Given the description of an element on the screen output the (x, y) to click on. 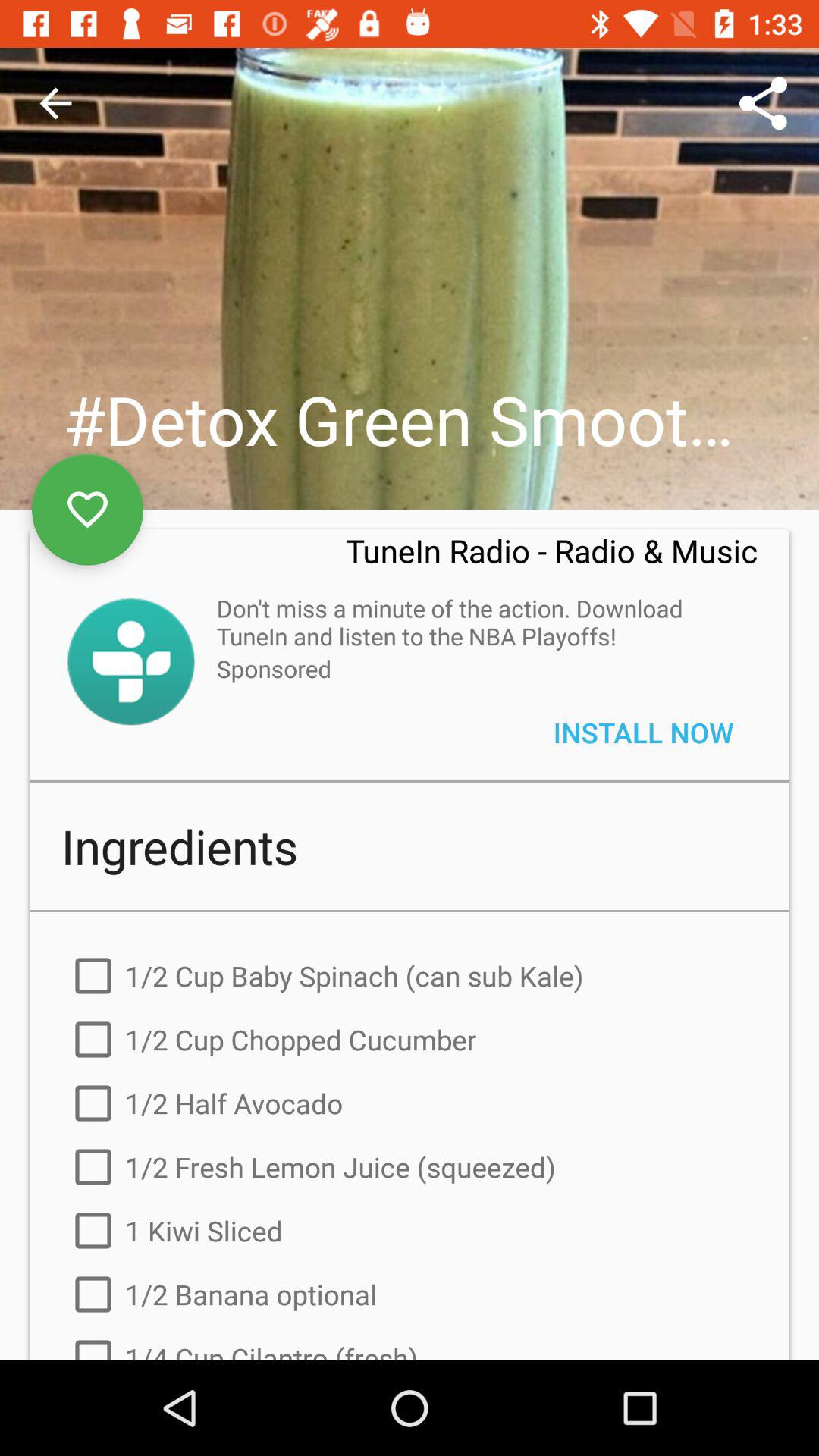
turn on item below the don t miss (643, 732)
